Given the description of an element on the screen output the (x, y) to click on. 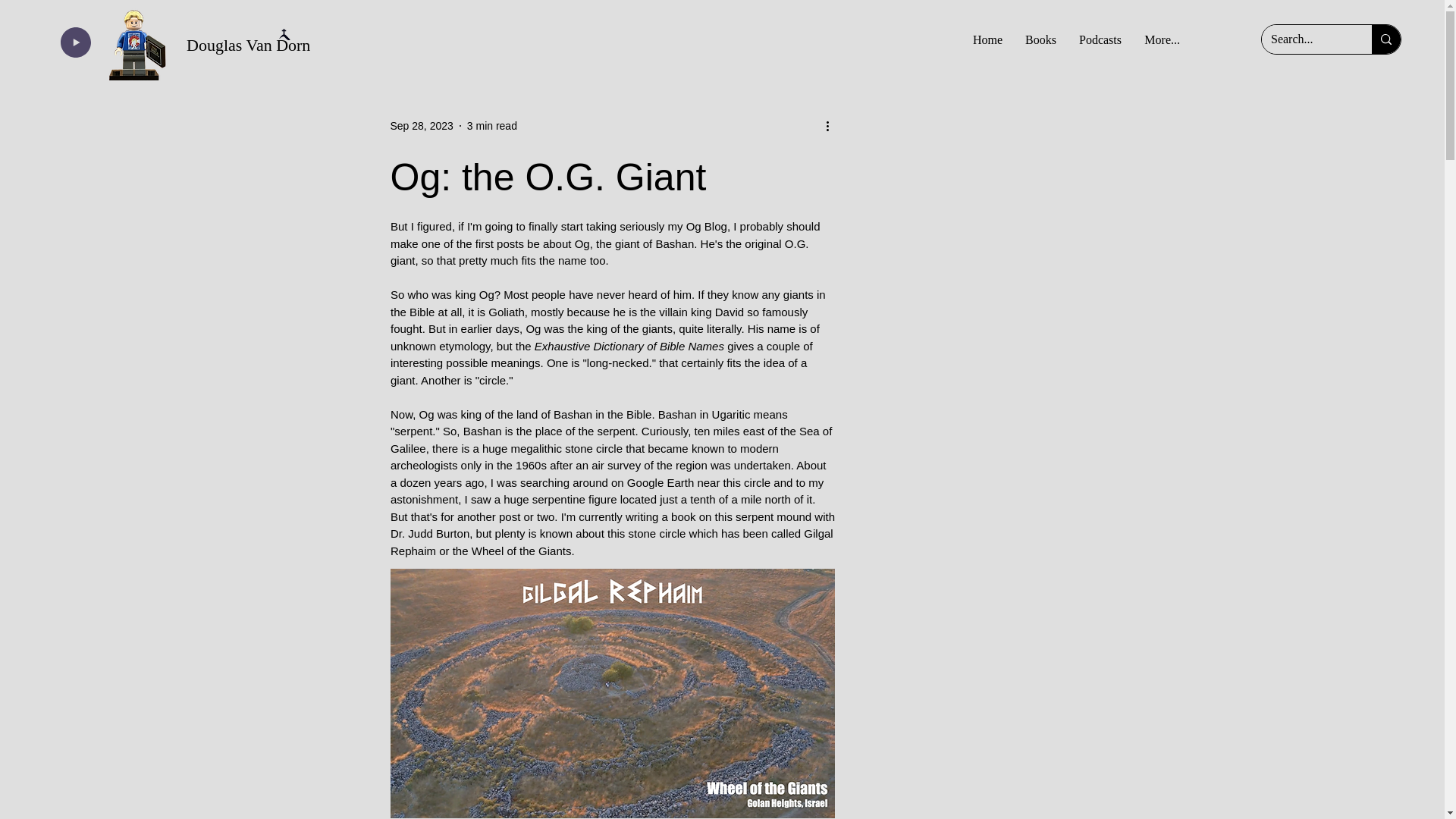
Books (1040, 39)
3 min read (491, 125)
Sep 28, 2023 (421, 125)
Douglas Van Dorn (248, 45)
Podcasts (1099, 39)
Home (986, 39)
